Given the description of an element on the screen output the (x, y) to click on. 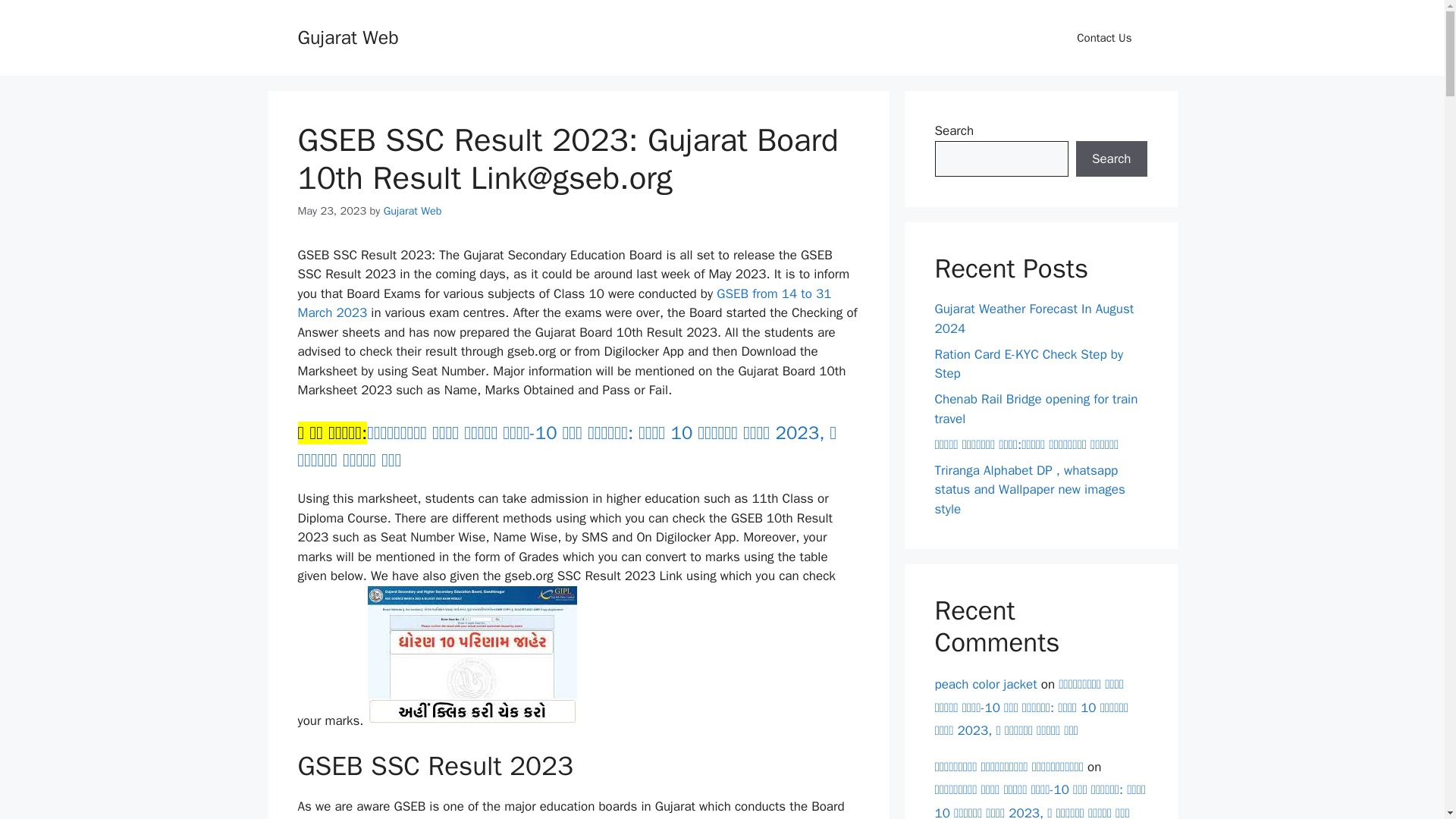
Ration Card E-KYC Check Step by Step (1028, 363)
View all posts by Gujarat Web (413, 210)
peach color jacket (985, 684)
Gujarat Web (413, 210)
Gujarat Web (347, 37)
Search (1111, 158)
GSEB from 14 to 31 March 2023 (564, 303)
Contact Us (1104, 37)
Gujarat Weather Forecast In August 2024 (1034, 318)
